Given the description of an element on the screen output the (x, y) to click on. 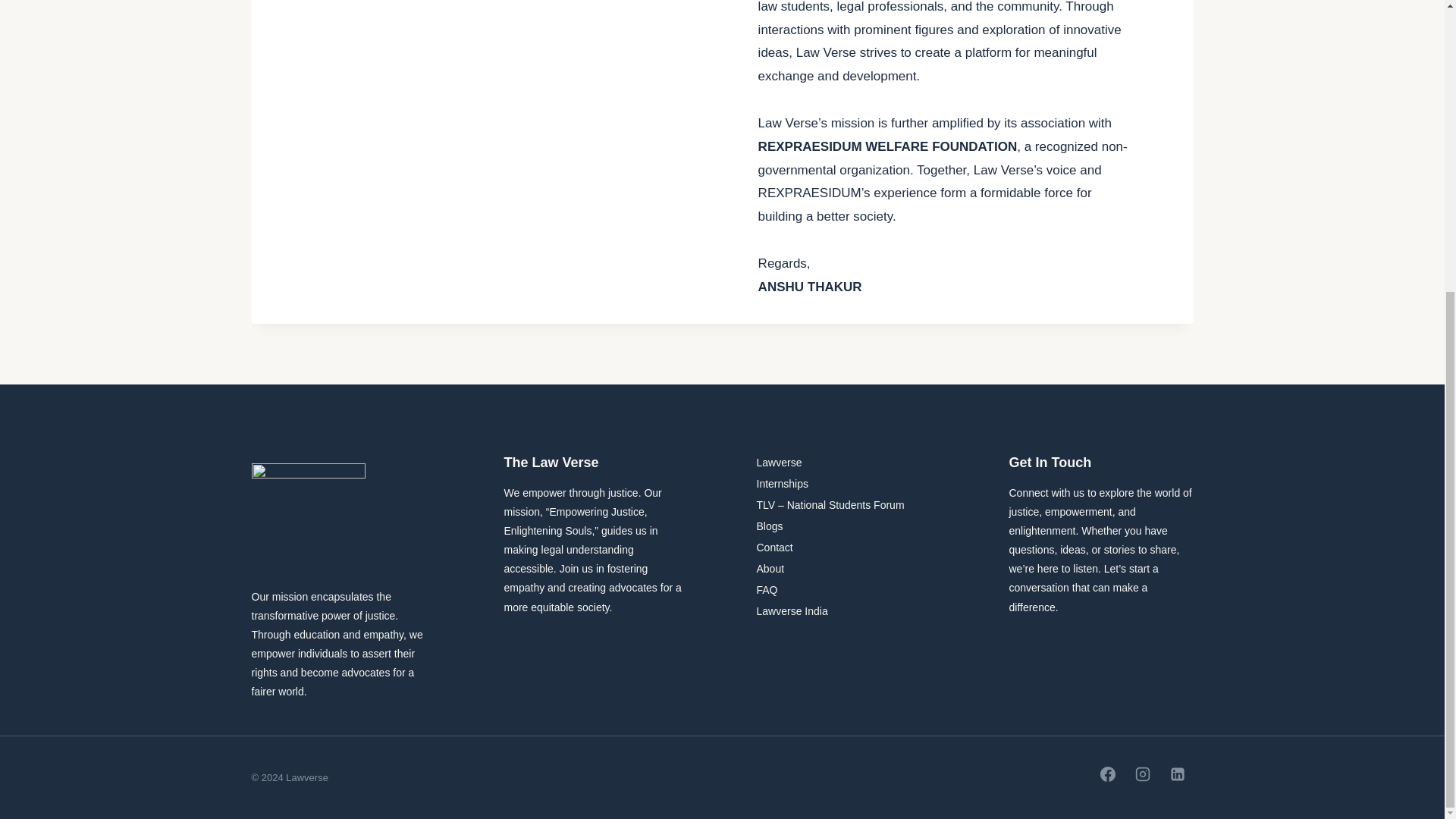
Internships (848, 483)
FAQ (848, 589)
Lawverse India (848, 610)
Blogs (848, 526)
Contact (848, 547)
Lawverse (848, 463)
About (848, 568)
Connect with us (1046, 491)
